Given the description of an element on the screen output the (x, y) to click on. 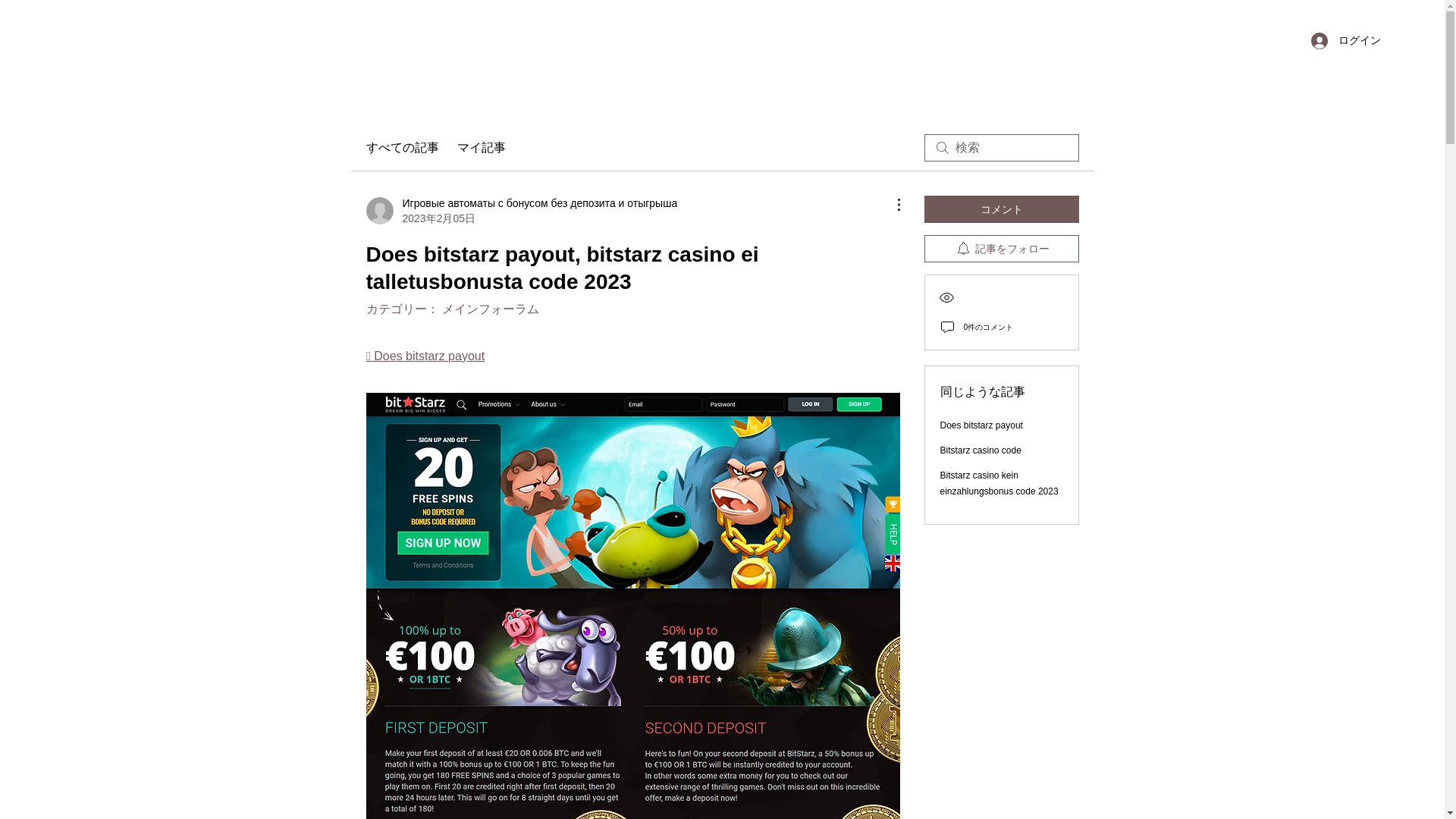
Bitstarz casino kein einzahlungsbonus code 2023 (999, 483)
Does bitstarz payout (981, 425)
Bitstarz casino code (981, 450)
